Given the description of an element on the screen output the (x, y) to click on. 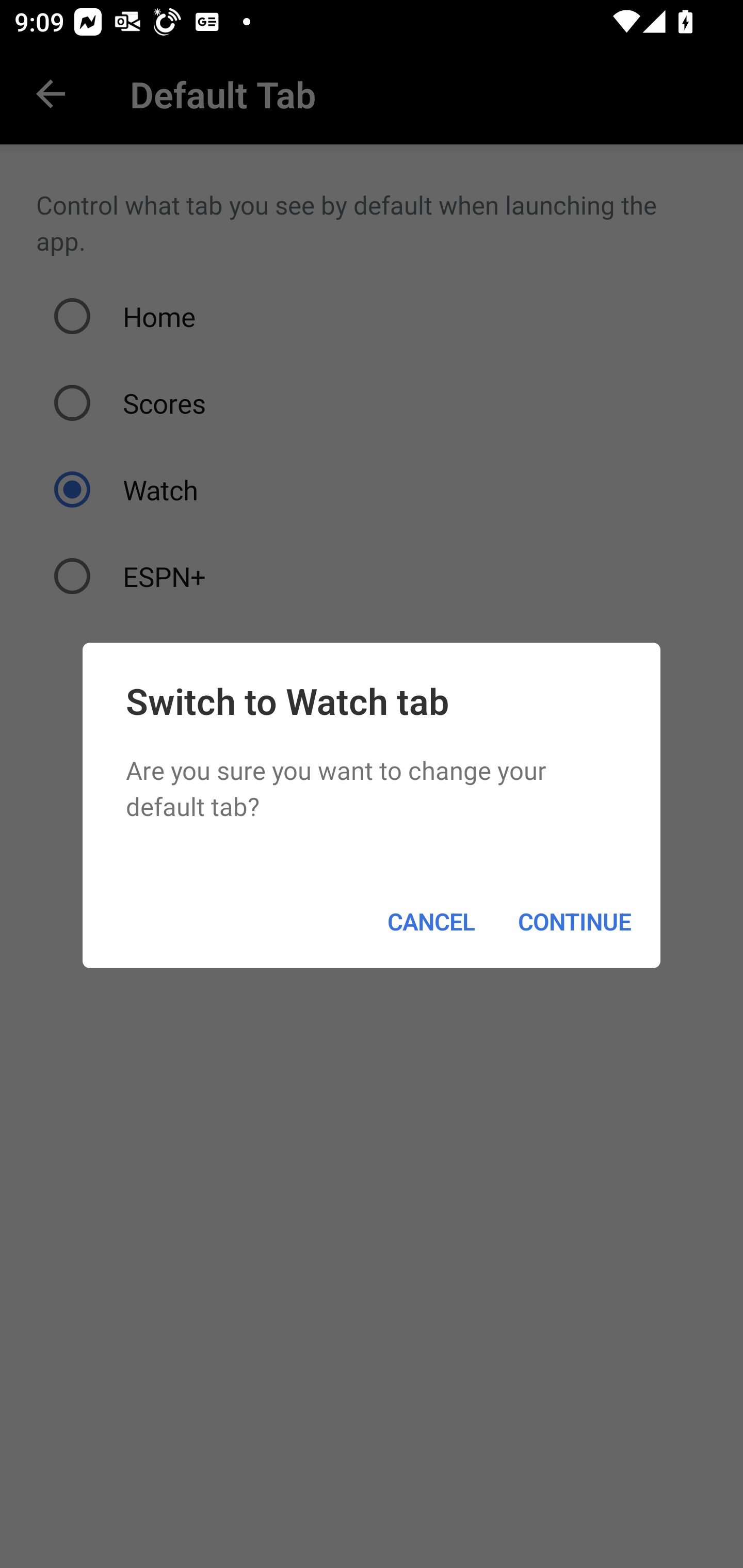
CANCEL (430, 921)
CONTINUE (574, 921)
